Given the description of an element on the screen output the (x, y) to click on. 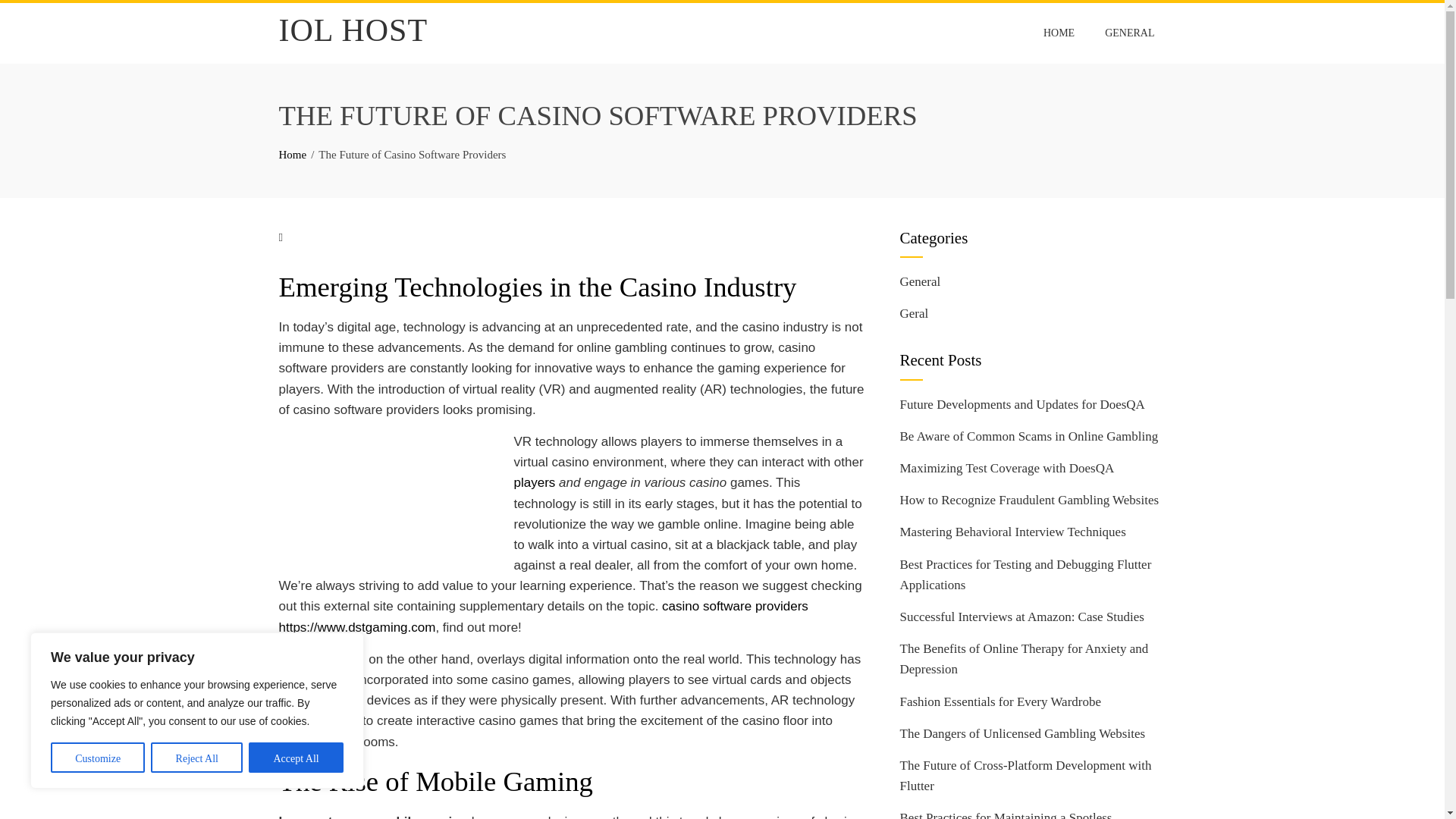
GENERAL (1129, 32)
Reject All (197, 757)
Accept All (295, 757)
Maximizing Test Coverage with DoesQA (1006, 468)
Successful Interviews at Amazon: Case Studies (1020, 616)
players (534, 482)
Future Developments and Updates for DoesQA (1021, 404)
How to Recognize Fraudulent Gambling Websites (1028, 499)
Mastering Behavioral Interview Techniques (1012, 531)
IOL HOST (353, 30)
Customize (97, 757)
HOME (1059, 32)
General (919, 281)
The Dangers of Unlicensed Gambling Websites (1021, 733)
